Given the description of an element on the screen output the (x, y) to click on. 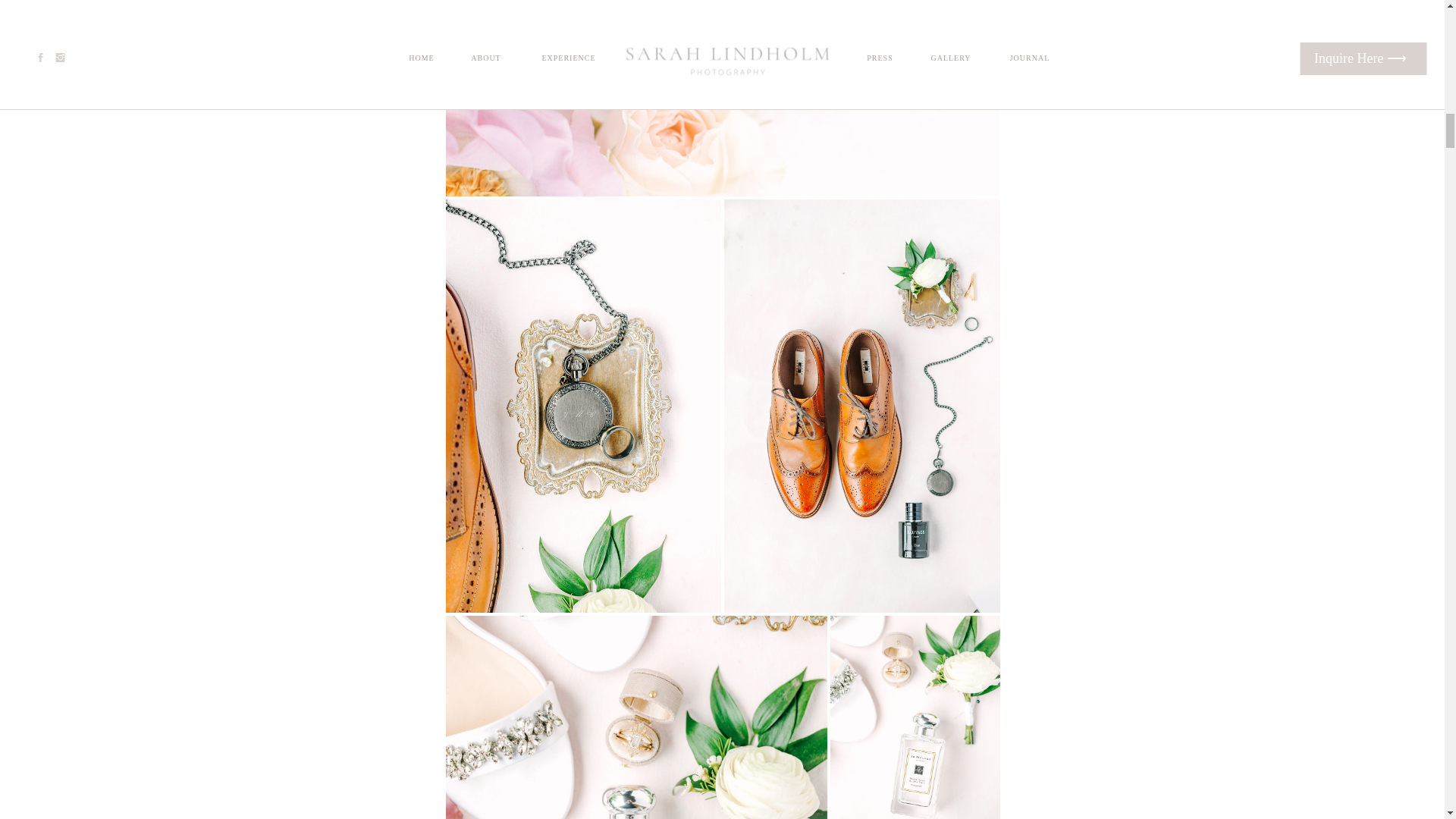
Dallas fort  worth wedding photographer (722, 98)
Dallas fort  worth wedding photographer (636, 717)
